Given the description of an element on the screen output the (x, y) to click on. 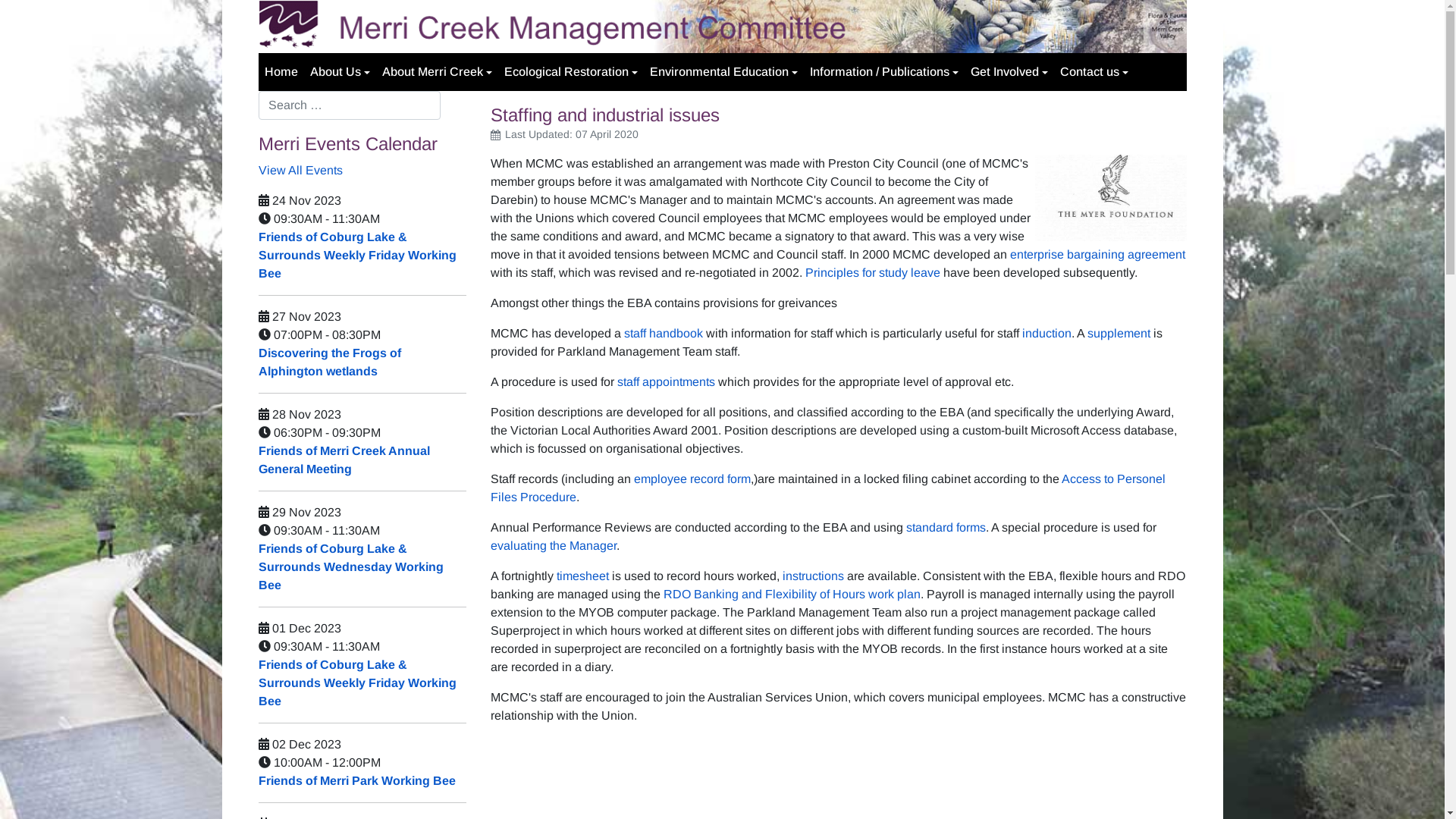
Get Involved Element type: text (1009, 72)
standard forms Element type: text (945, 526)
Friends of Coburg Lake & Surrounds Wednesday Working Bee Element type: text (349, 566)
timesheet Element type: text (582, 575)
Friends of Merri Park Working Bee Element type: text (356, 780)
staff appointments Element type: text (666, 381)
evaluating the Manager Element type: text (552, 545)
Access to Personel Files Procedure Element type: text (826, 487)
Principles for study leave Element type: text (872, 272)
Friends of Merri Creek Annual General Meeting Element type: text (343, 459)
staff handbook Element type: text (662, 332)
RDO Banking and Flexibility of Hours work plan Element type: text (790, 593)
Contact us Element type: text (1094, 72)
enterprise bargaining agreement Element type: text (1097, 253)
Home Element type: text (280, 72)
employee record form Element type: text (691, 478)
Friends of Coburg Lake & Surrounds Weekly Friday Working Bee Element type: text (356, 254)
Ecological Restoration Element type: text (570, 72)
instructions Element type: text (813, 575)
View All Events Element type: text (299, 169)
Discovering the Frogs of Alphington wetlands Element type: text (328, 361)
About Merri Creek Element type: text (437, 72)
Environmental Education Element type: text (723, 72)
supplement Element type: text (1118, 332)
Information / Publications Element type: text (883, 72)
Friends of Coburg Lake & Surrounds Weekly Friday Working Bee Element type: text (356, 682)
About Us Element type: text (339, 72)
induction Element type: text (1046, 332)
